Given the description of an element on the screen output the (x, y) to click on. 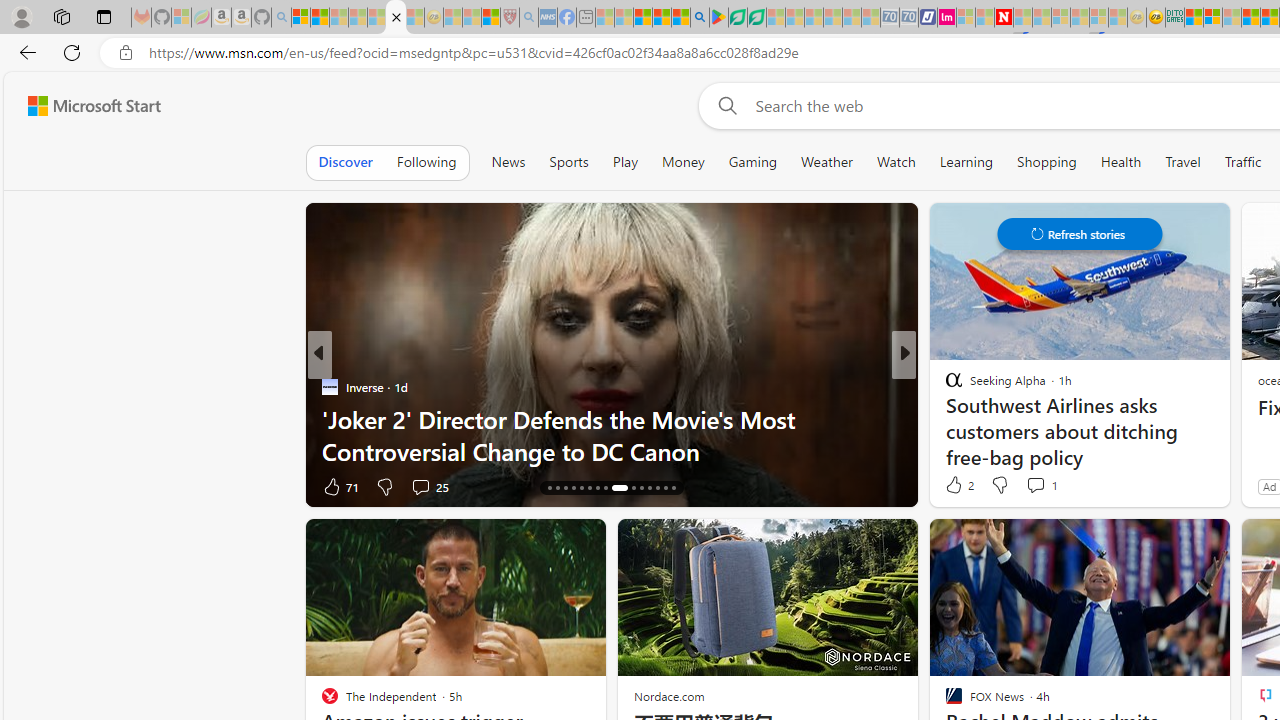
22 Like (956, 486)
16 Like (956, 486)
New Report Confirms 2023 Was Record Hot | Watch - Sleeping (376, 17)
Learning (966, 162)
Discover (345, 161)
MSNBC - MSN - Sleeping (605, 17)
Dislike (998, 484)
View comments 7 Comment (1042, 485)
Following (426, 161)
Gaming (752, 162)
